Given the description of an element on the screen output the (x, y) to click on. 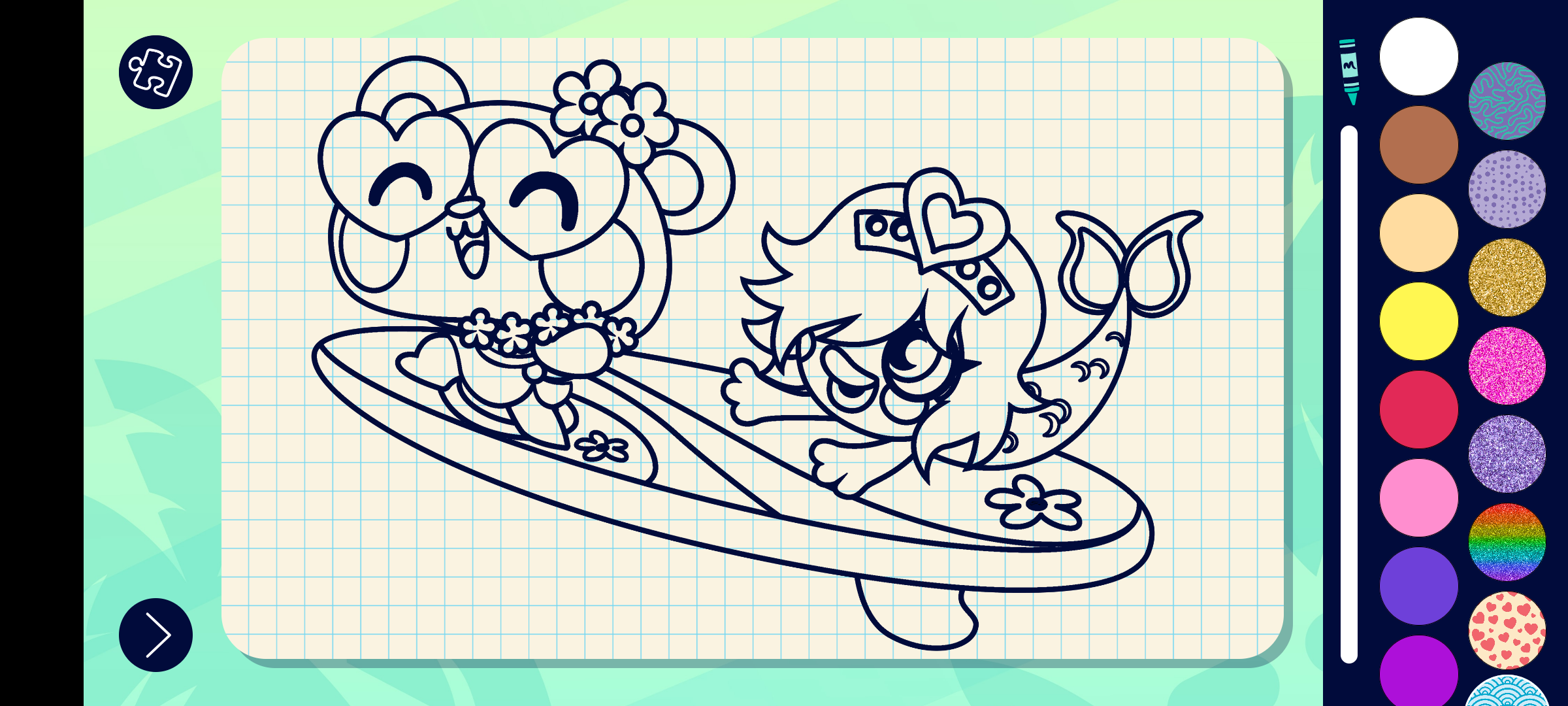
coloring background (1507, 101)
coloring background (1507, 189)
coloring background (1507, 277)
coloring background (1507, 365)
coloring background (1507, 454)
coloring background (1507, 542)
coloring background (1507, 630)
